Given the description of an element on the screen output the (x, y) to click on. 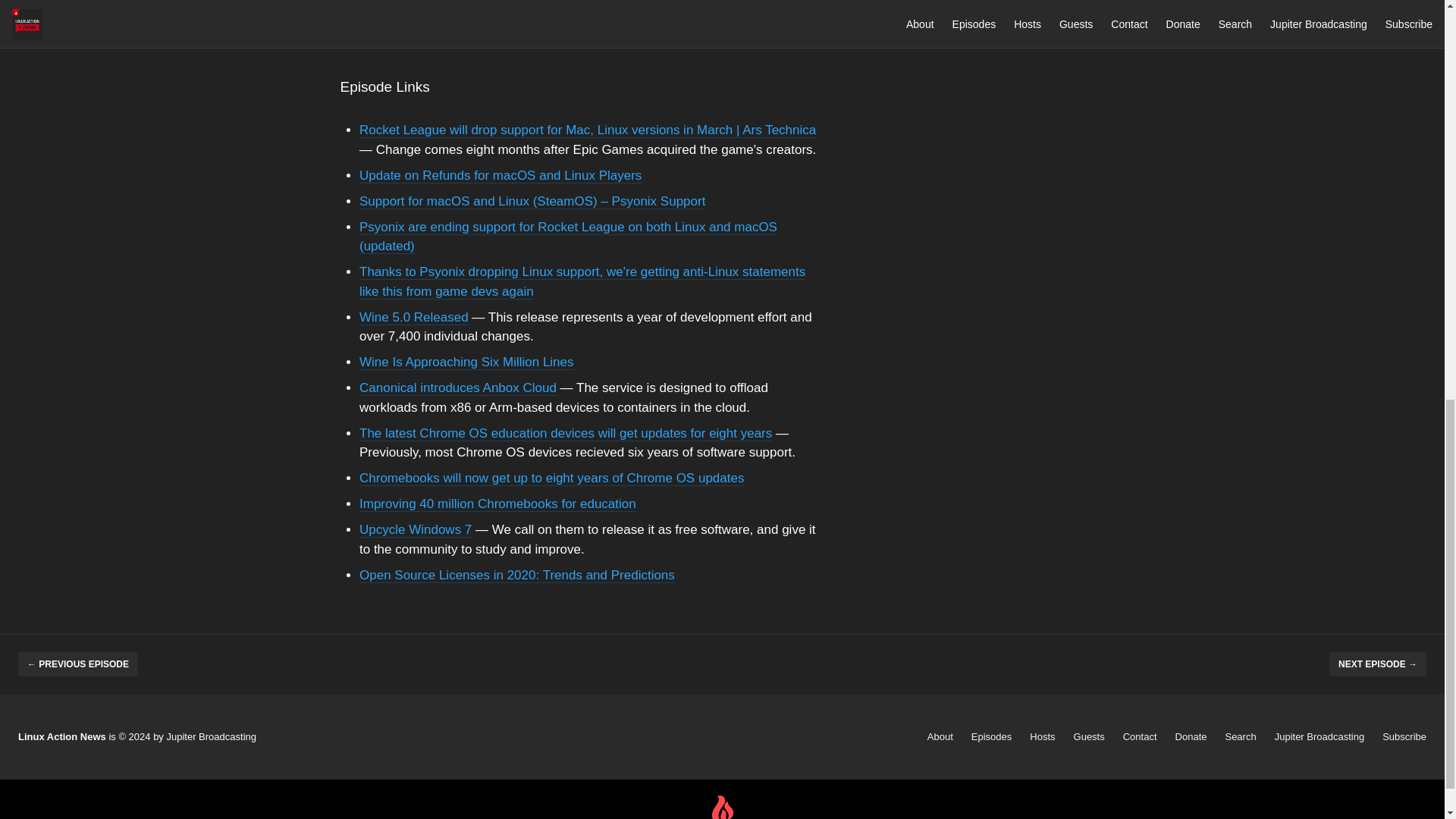
Wine Is Approaching Six Million Lines (466, 361)
Update on Refunds for macOS and Linux Players (500, 175)
Open Source Licenses in 2020: Trends and Predictions (517, 574)
Canonical introduces Anbox Cloud (457, 387)
Upcycle Windows 7 (415, 529)
Wine 5.0 Released (413, 316)
Powered by Fireside (722, 807)
Improving 40 million Chromebooks for education (497, 503)
